Given the description of an element on the screen output the (x, y) to click on. 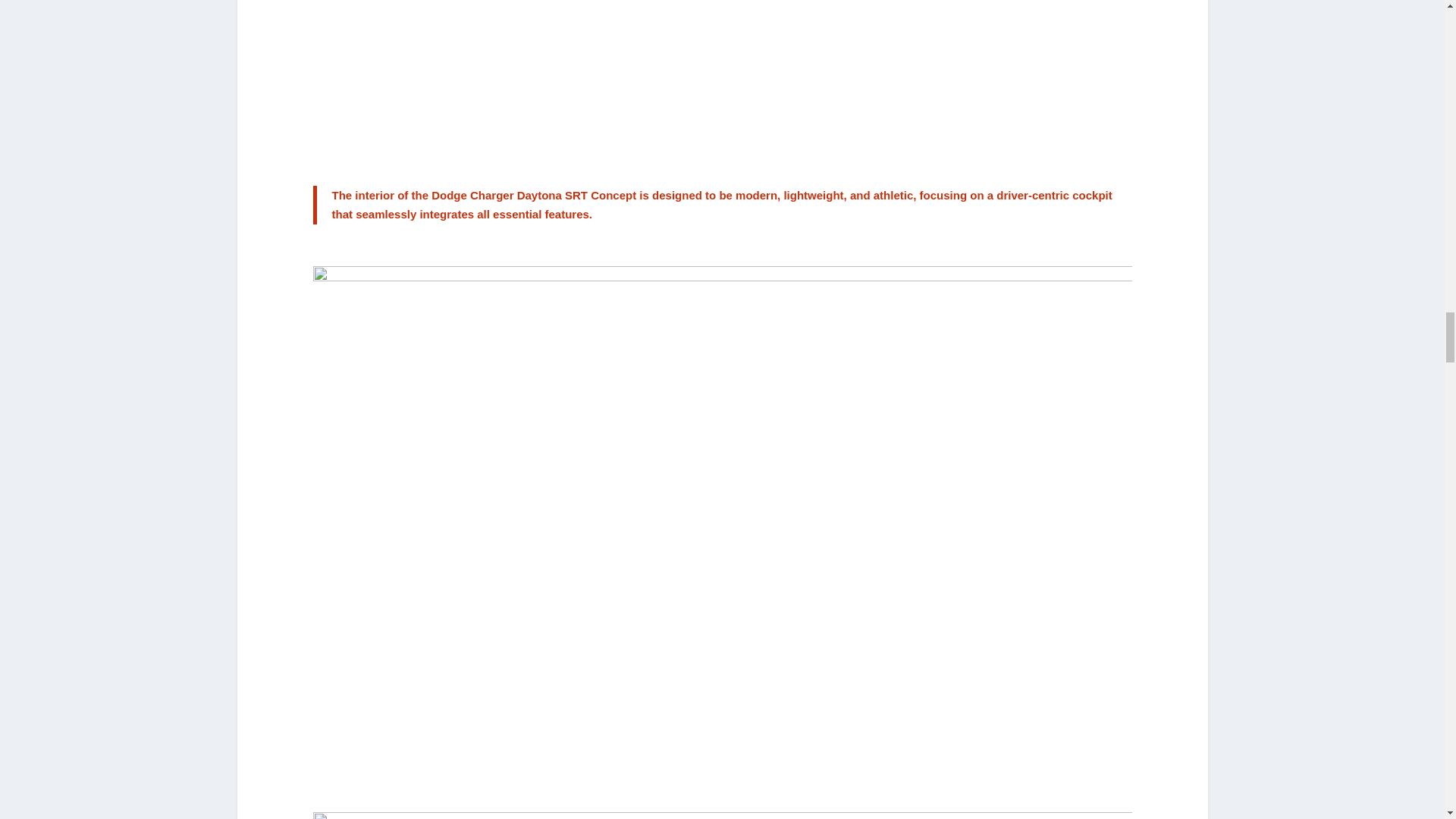
2023 Concept Dodge Charger Daytona SRT EV-12 (722, 81)
